Given the description of an element on the screen output the (x, y) to click on. 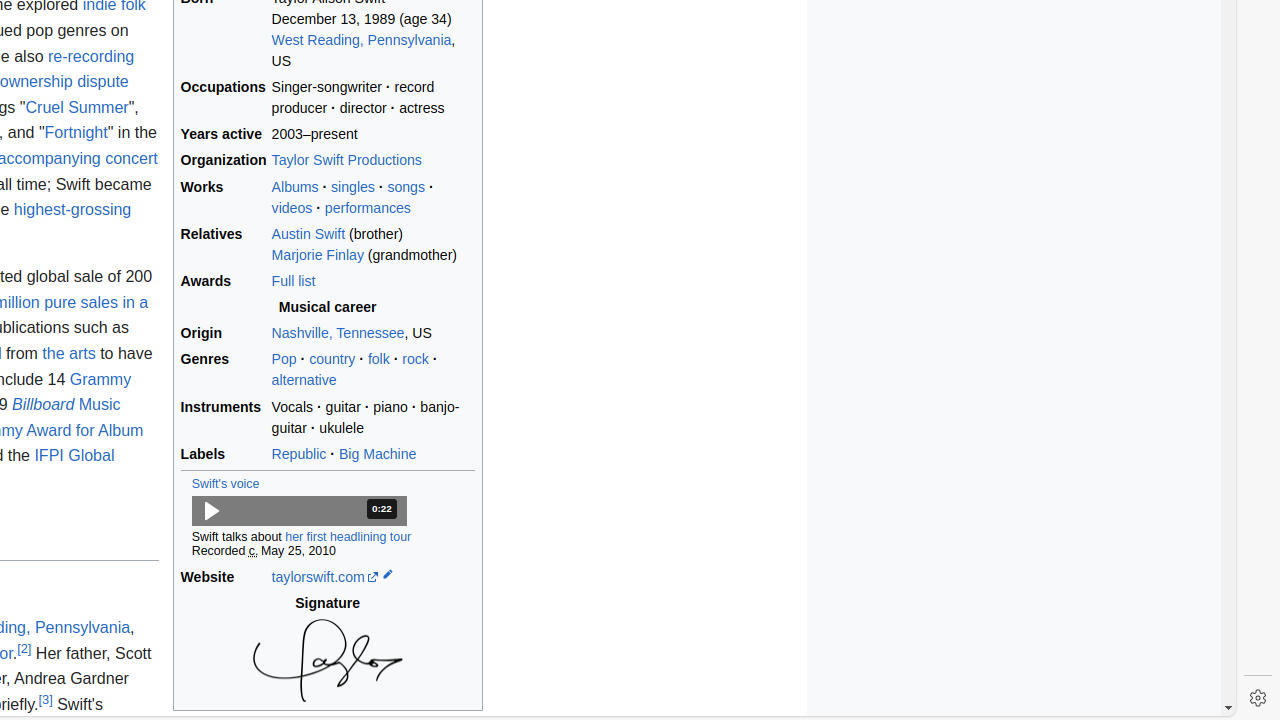
Albums · singles · songs ·videos · performances Element type: table-cell (373, 197)
Republic · Big Machine Element type: table-cell (373, 454)
Full list Element type: table-cell (373, 282)
[3] Element type: link (45, 699)
Taylor Swift Productions Element type: table-cell (373, 161)
